Given the description of an element on the screen output the (x, y) to click on. 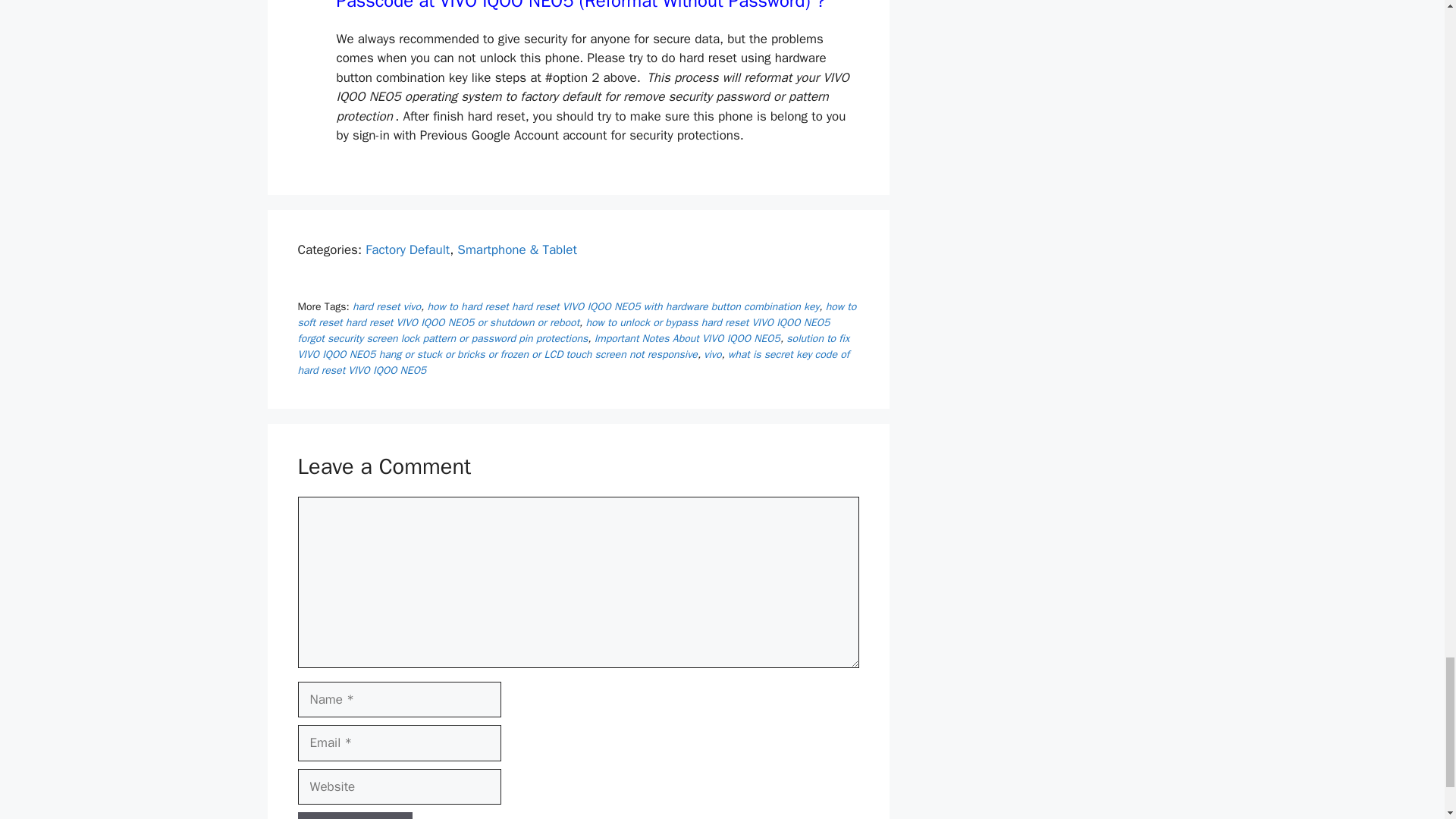
Important Notes About VIVO IQOO NEO5 (687, 338)
what is secret key code of hard reset VIVO IQOO NEO5 (572, 362)
Post Comment (354, 815)
vivo (711, 354)
Post Comment (354, 815)
Factory Default (407, 249)
hard reset vivo (386, 306)
